Given the description of an element on the screen output the (x, y) to click on. 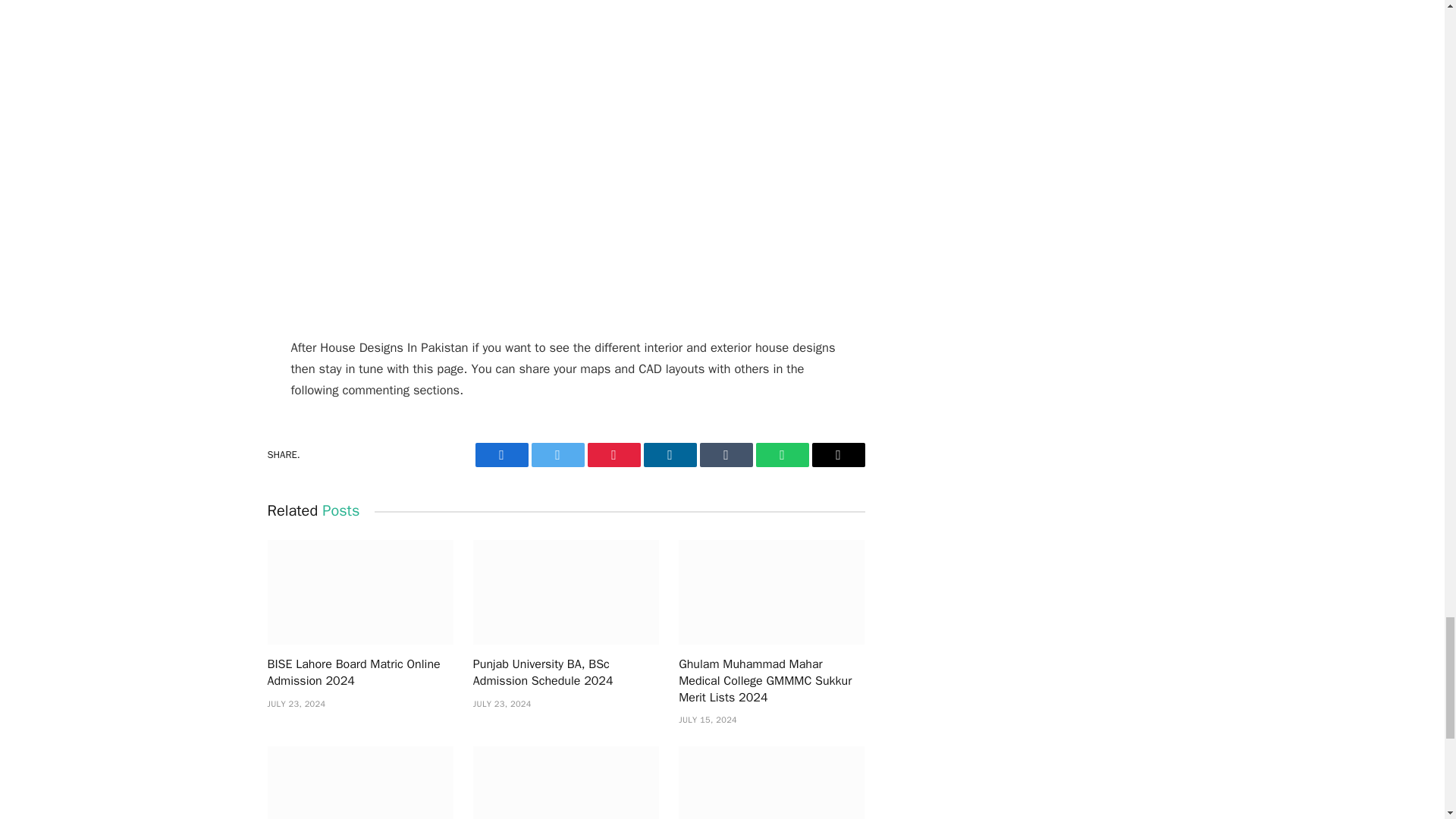
Email (837, 454)
Share on Facebook (500, 454)
Facebook (500, 454)
Pinterest (613, 454)
Tumblr (725, 454)
Twitter (557, 454)
LinkedIn (669, 454)
WhatsApp (781, 454)
